Given the description of an element on the screen output the (x, y) to click on. 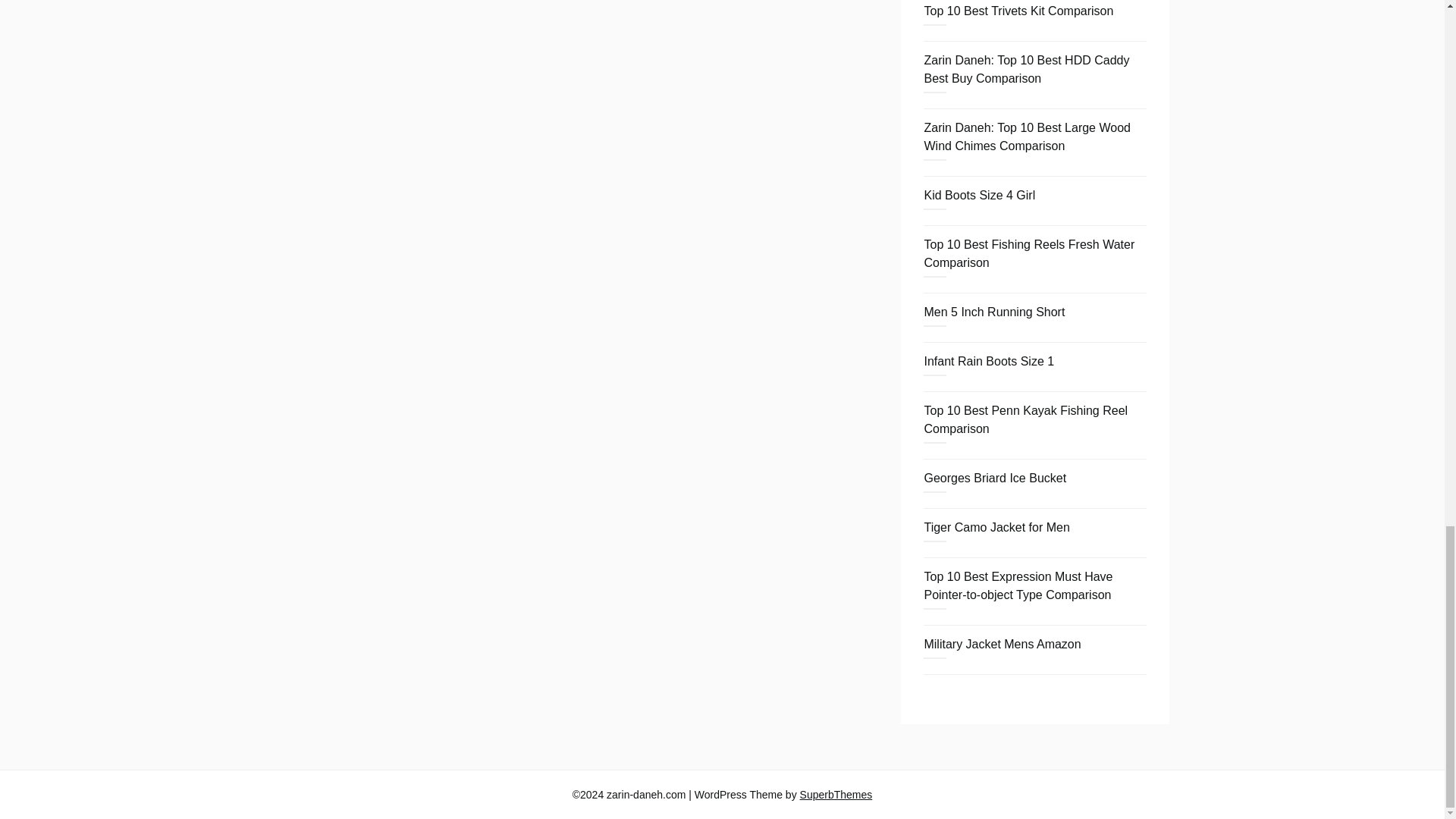
Infant Rain Boots Size 1 (988, 360)
Top 10 Best Penn Kayak Fishing Reel Comparison (1024, 419)
Zarin Daneh: Top 10 Best Large Wood Wind Chimes Comparison (1026, 136)
SuperbThemes (835, 794)
Zarin Daneh: Top 10 Best HDD Caddy Best Buy Comparison (1026, 69)
Tiger Camo Jacket for Men (995, 526)
Georges Briard Ice Bucket (994, 477)
Top 10 Best Trivets Kit Comparison (1018, 10)
Men 5 Inch Running Short (993, 311)
Kid Boots Size 4 Girl (979, 195)
Military Jacket Mens Amazon (1001, 644)
Top 10 Best Fishing Reels Fresh Water Comparison (1028, 253)
